Given the description of an element on the screen output the (x, y) to click on. 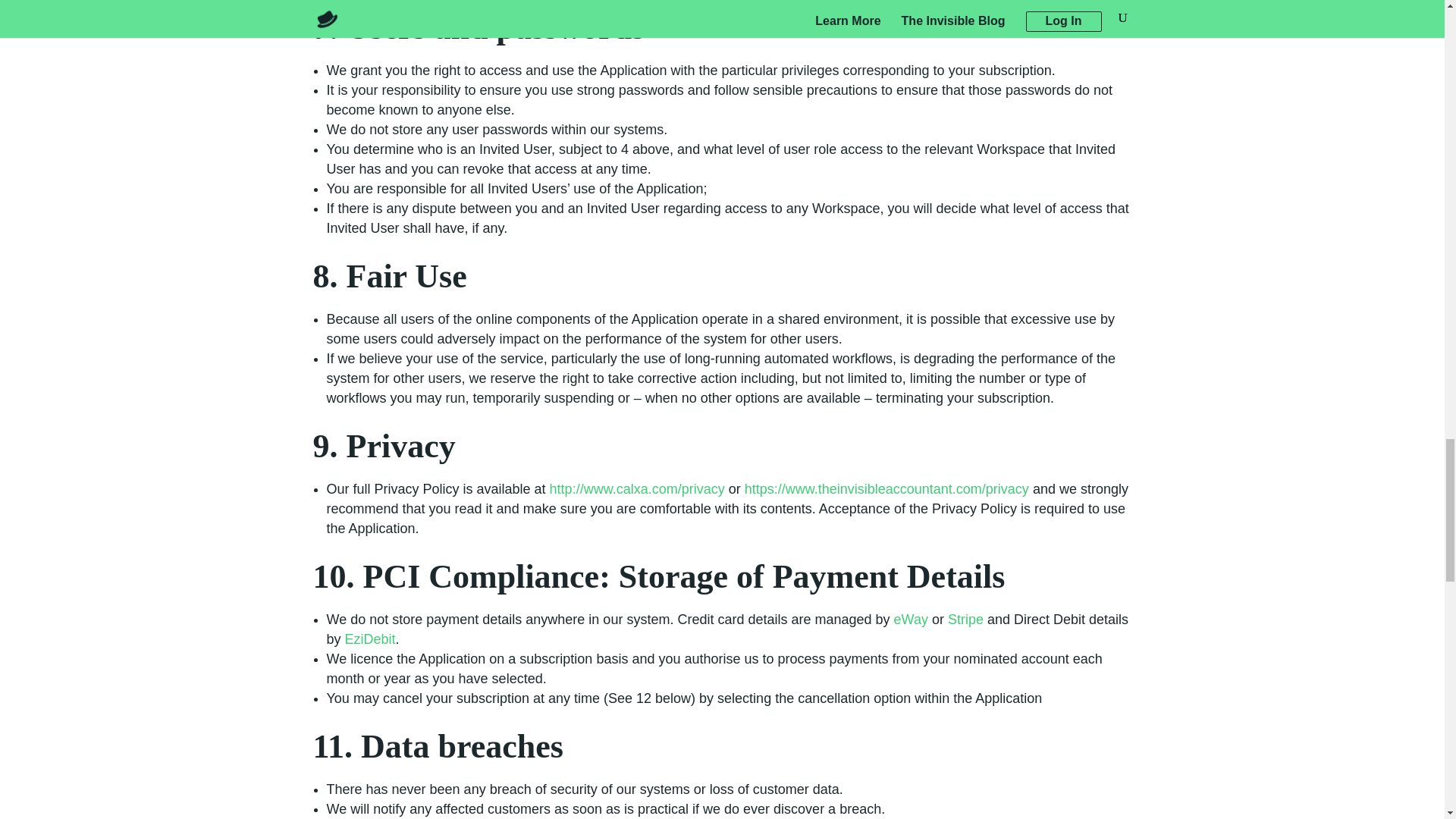
Stripe (965, 619)
EziDebit (370, 639)
eWay (910, 619)
